Given the description of an element on the screen output the (x, y) to click on. 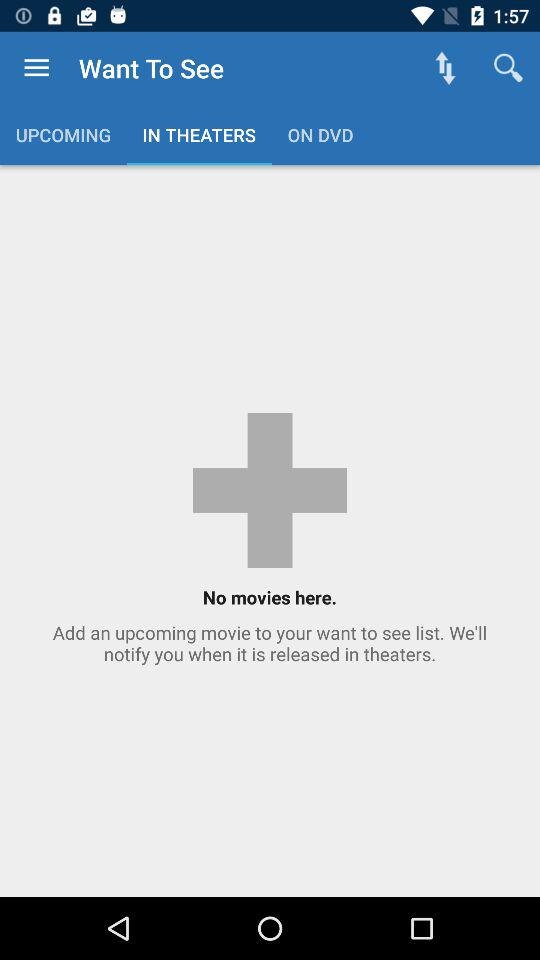
turn off icon above the add an upcoming item (508, 67)
